Given the description of an element on the screen output the (x, y) to click on. 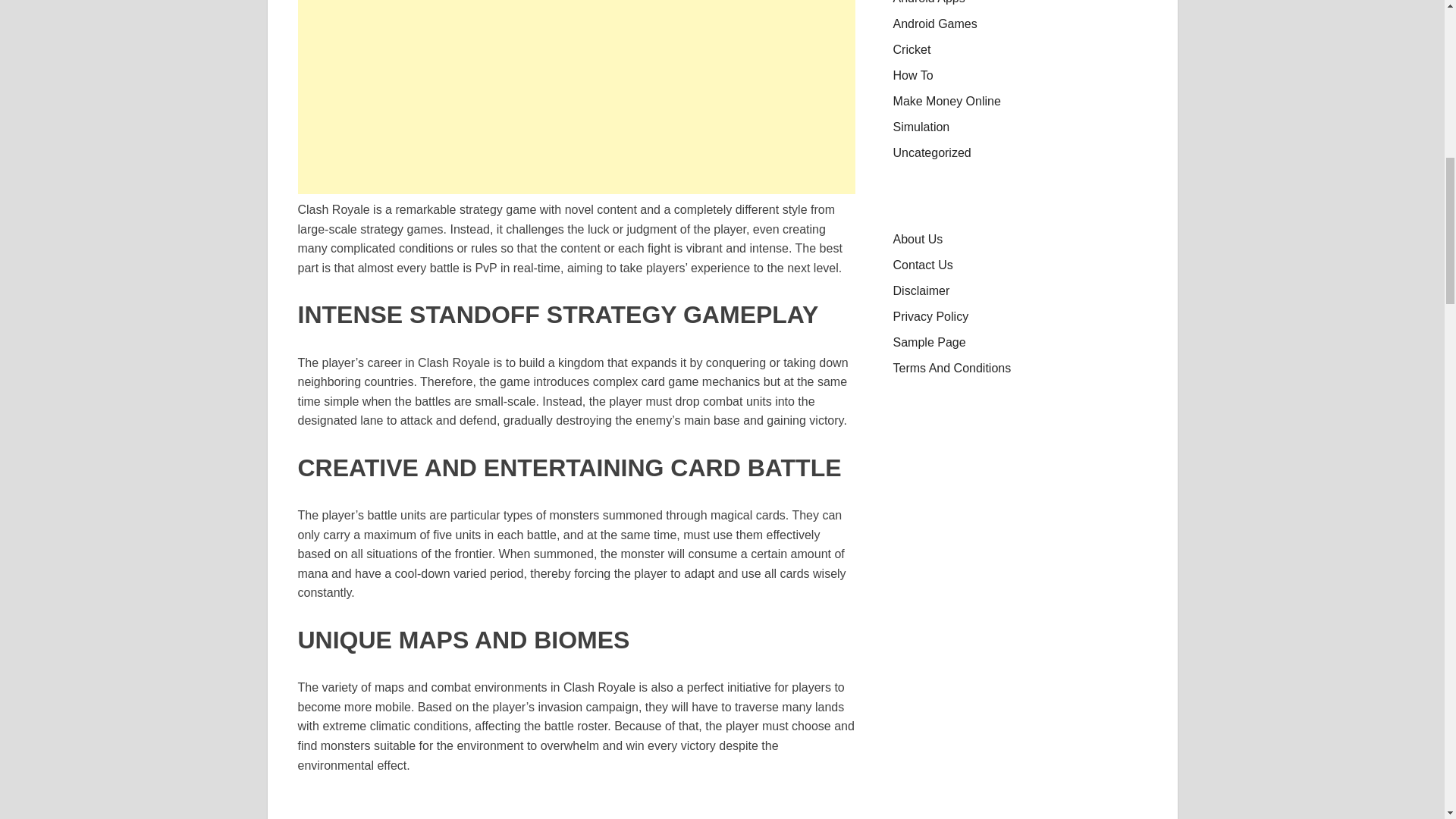
Advertisement (575, 97)
